Given the description of an element on the screen output the (x, y) to click on. 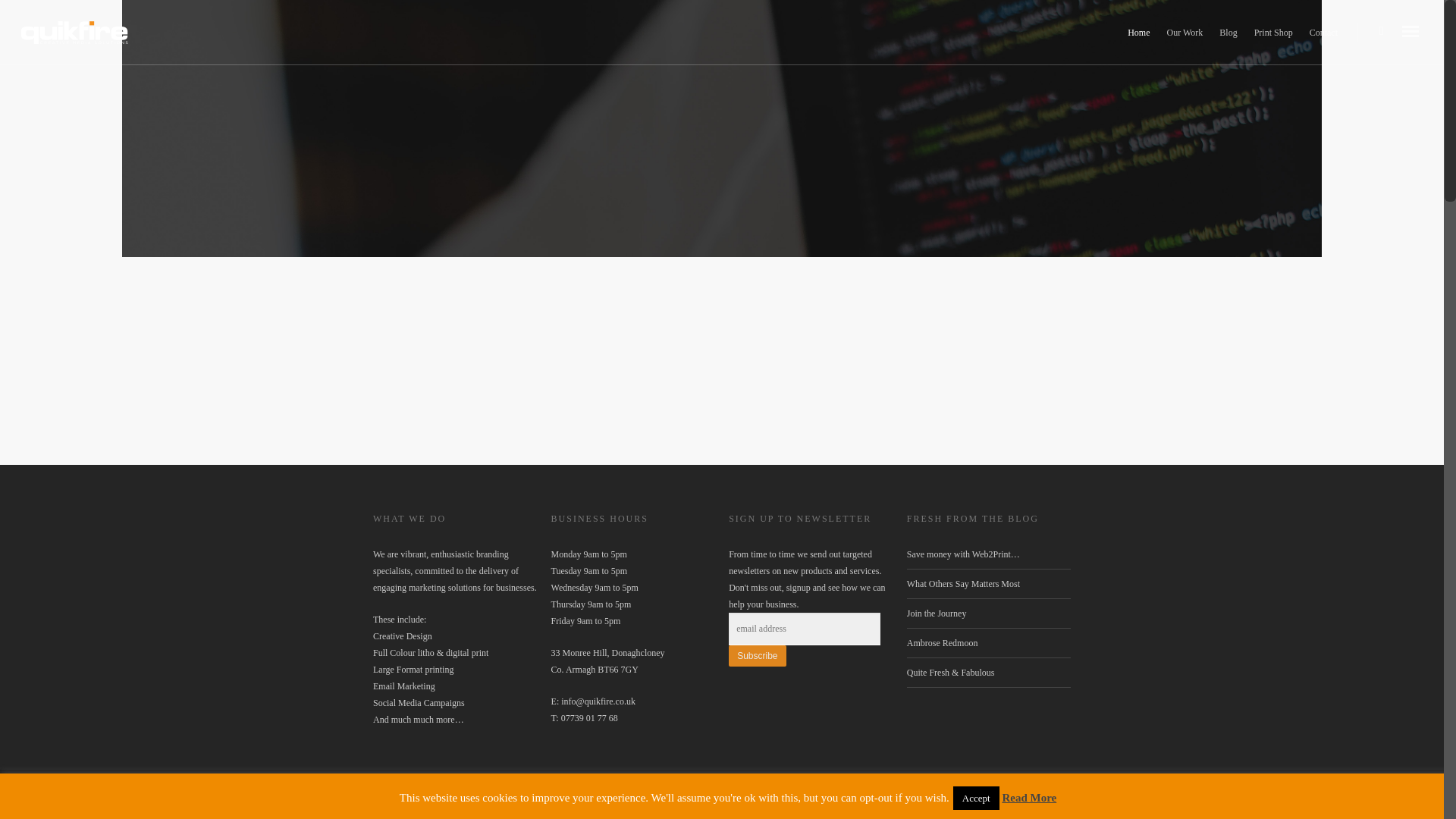
Subscribe (757, 655)
